Given the description of an element on the screen output the (x, y) to click on. 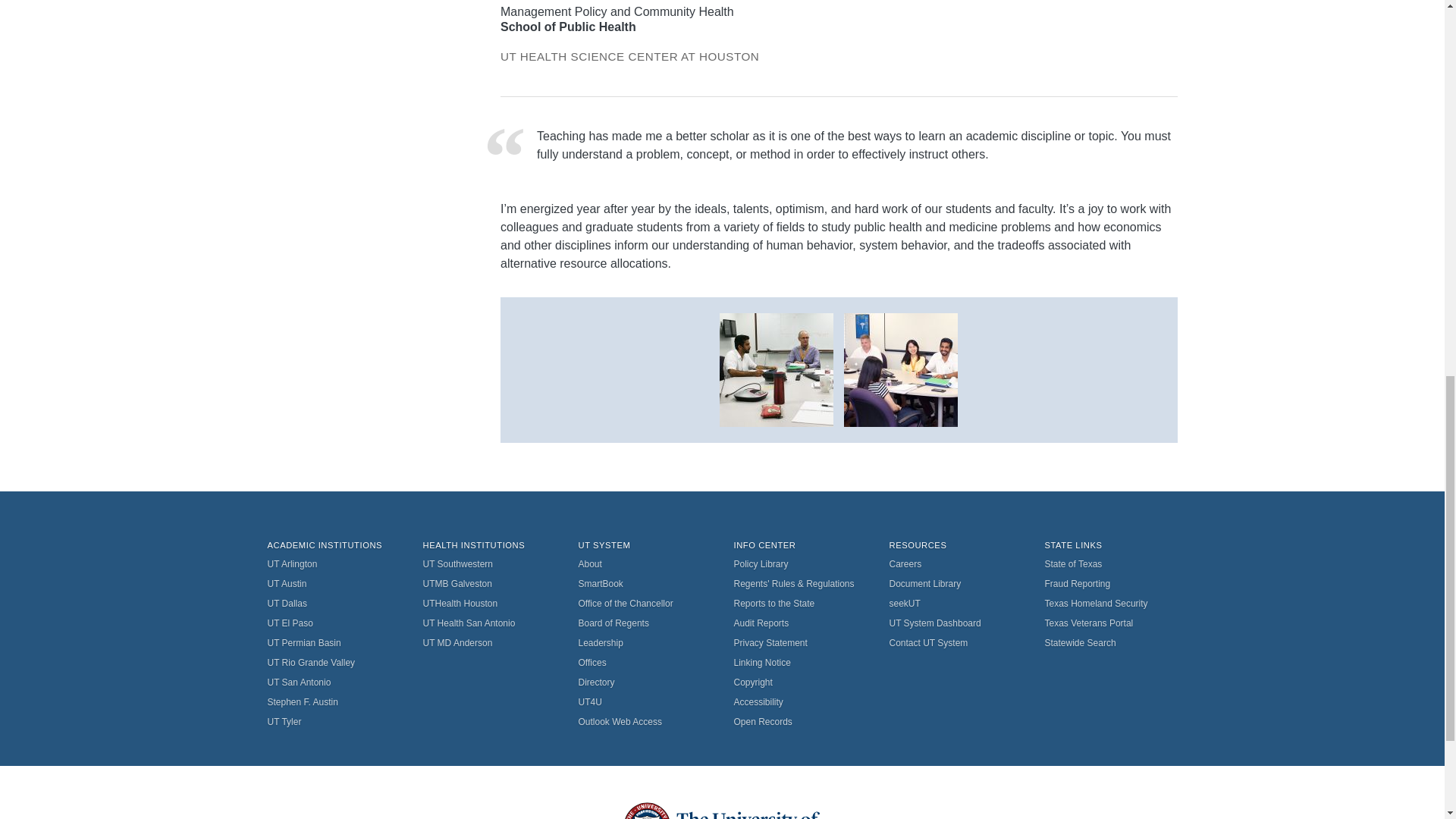
UT San Antonio (332, 682)
UT El Paso (332, 623)
Leadership (644, 642)
Lairson, David (901, 368)
About (644, 564)
UT Southwestern (489, 564)
UT Tyler (332, 721)
UT MD Anderson (489, 642)
UT Medical Branch at Galveston (489, 583)
UTHealth Houston (489, 603)
Offices (644, 662)
Board of Regents (644, 623)
UT Permian Basin (332, 642)
UT Health San Antonio (489, 623)
Stephen F. Austin (332, 701)
